Given the description of an element on the screen output the (x, y) to click on. 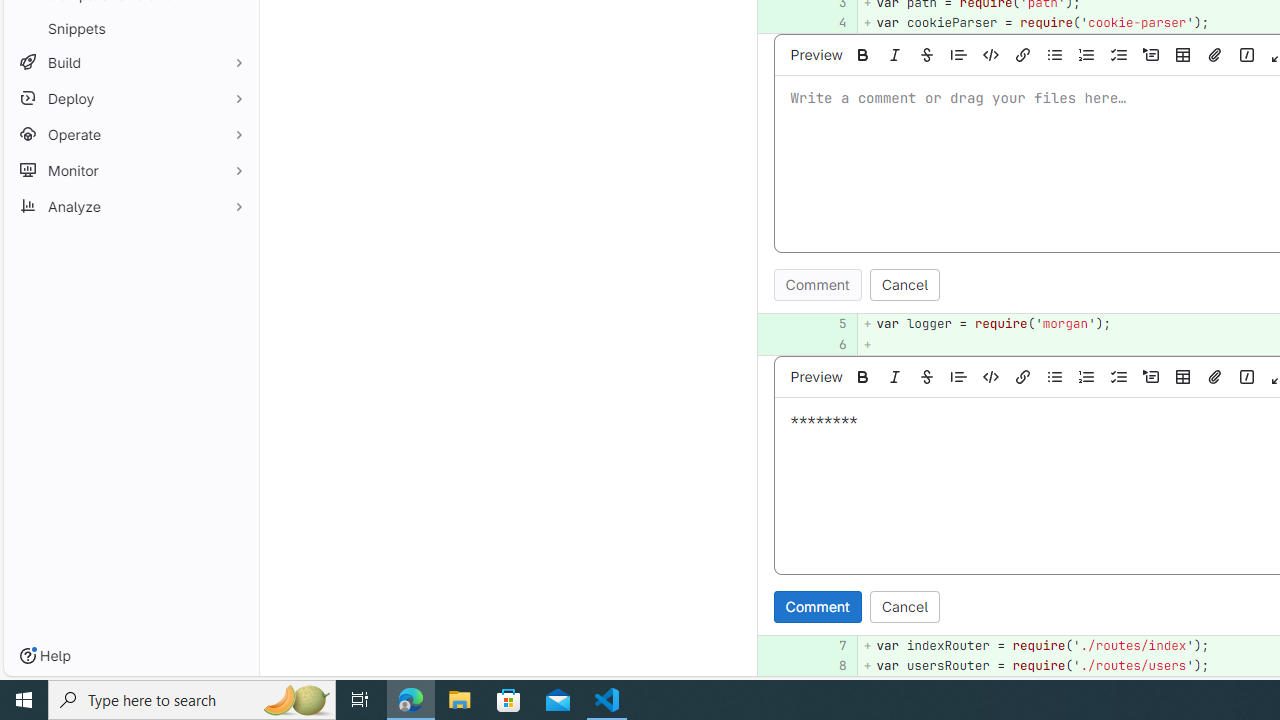
7 (831, 645)
8 (831, 665)
Add a numbered list (1087, 376)
Snippets (130, 28)
Monitor (130, 170)
Add a comment to this line (757, 665)
Pin Snippets (234, 28)
Add a comment to this line  (781, 665)
Operate (130, 134)
Analyze (130, 206)
Preview (816, 376)
Add a collapsible section (1151, 376)
4 (829, 22)
5 (831, 323)
Insert code (991, 376)
